Given the description of an element on the screen output the (x, y) to click on. 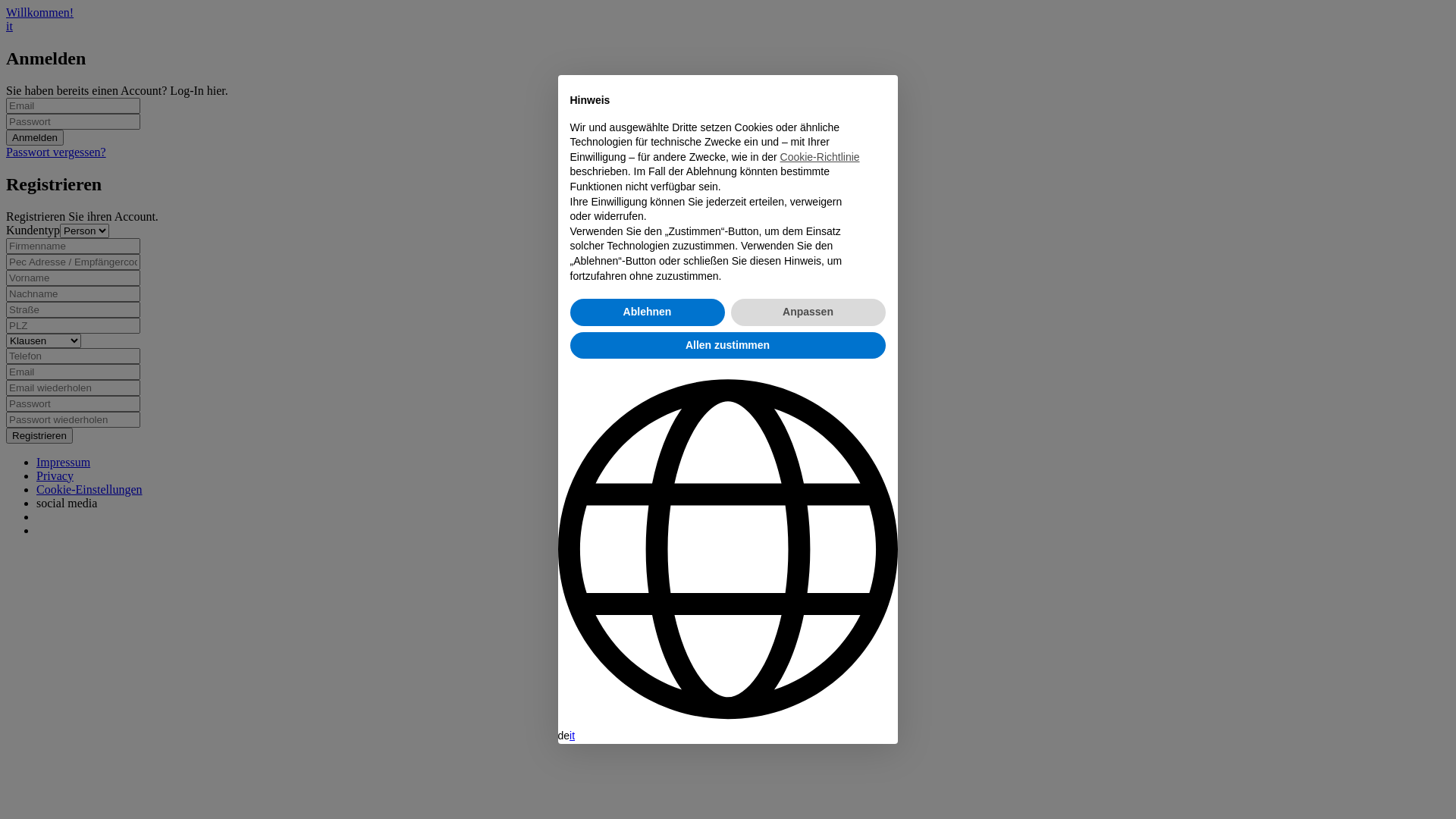
Registrieren Element type: text (39, 435)
Privacy Element type: text (54, 475)
Allen zustimmen Element type: text (727, 345)
Cookie-Richtlinie Element type: text (819, 156)
Ablehnen Element type: text (647, 312)
Anmelden Element type: text (34, 137)
Passwort vergessen? Element type: text (56, 151)
Cookie-Einstellungen Element type: text (89, 489)
it Element type: text (572, 735)
Impressum Element type: text (63, 461)
Willkommen! Element type: text (39, 12)
Anpassen Element type: text (808, 312)
it Element type: text (9, 25)
